Given the description of an element on the screen output the (x, y) to click on. 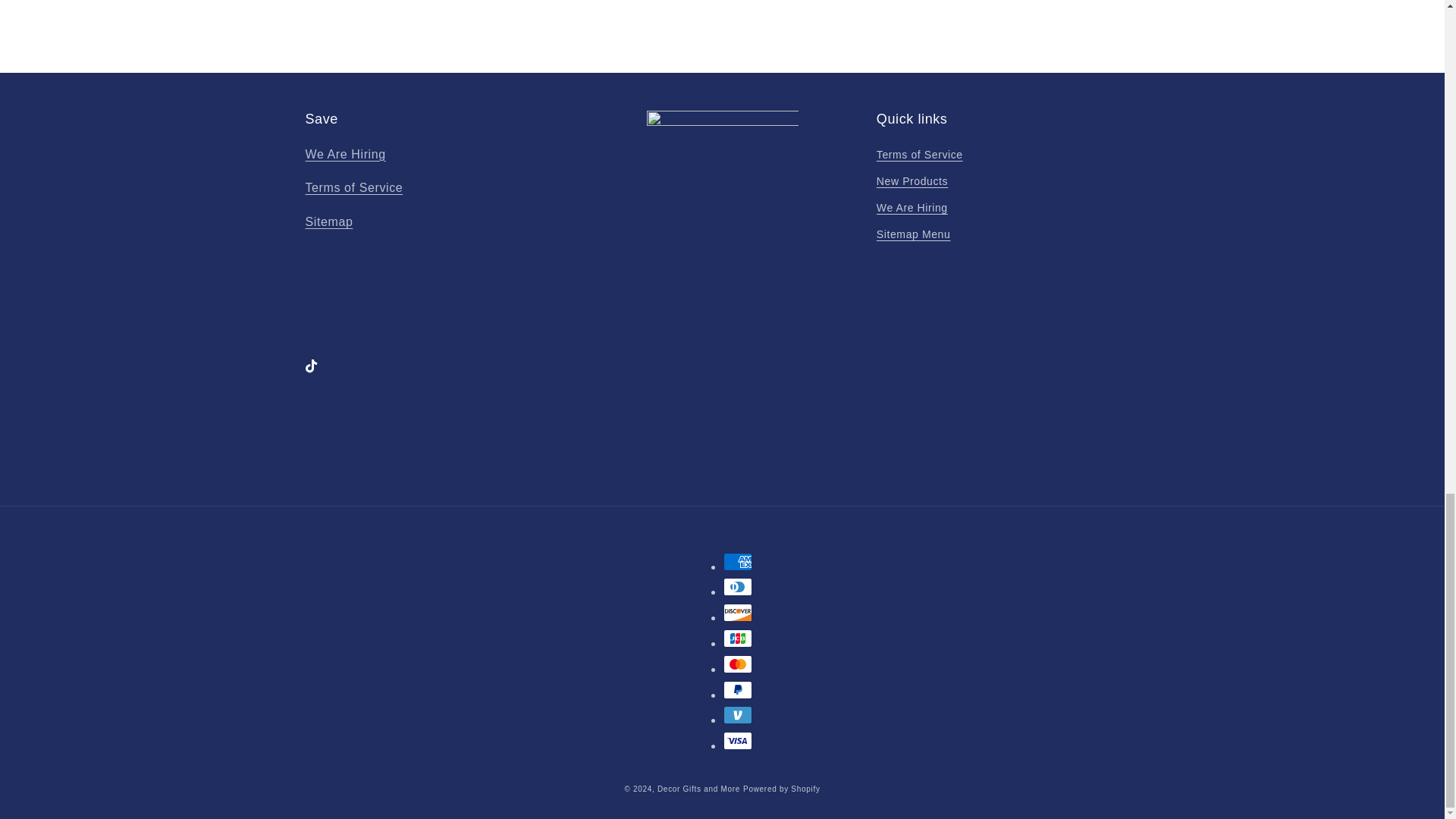
JCB (737, 638)
Mastercard (737, 664)
Discover (737, 612)
PayPal (737, 689)
Visa (737, 741)
American Express (737, 561)
Venmo (737, 714)
Diners Club (737, 587)
